Given the description of an element on the screen output the (x, y) to click on. 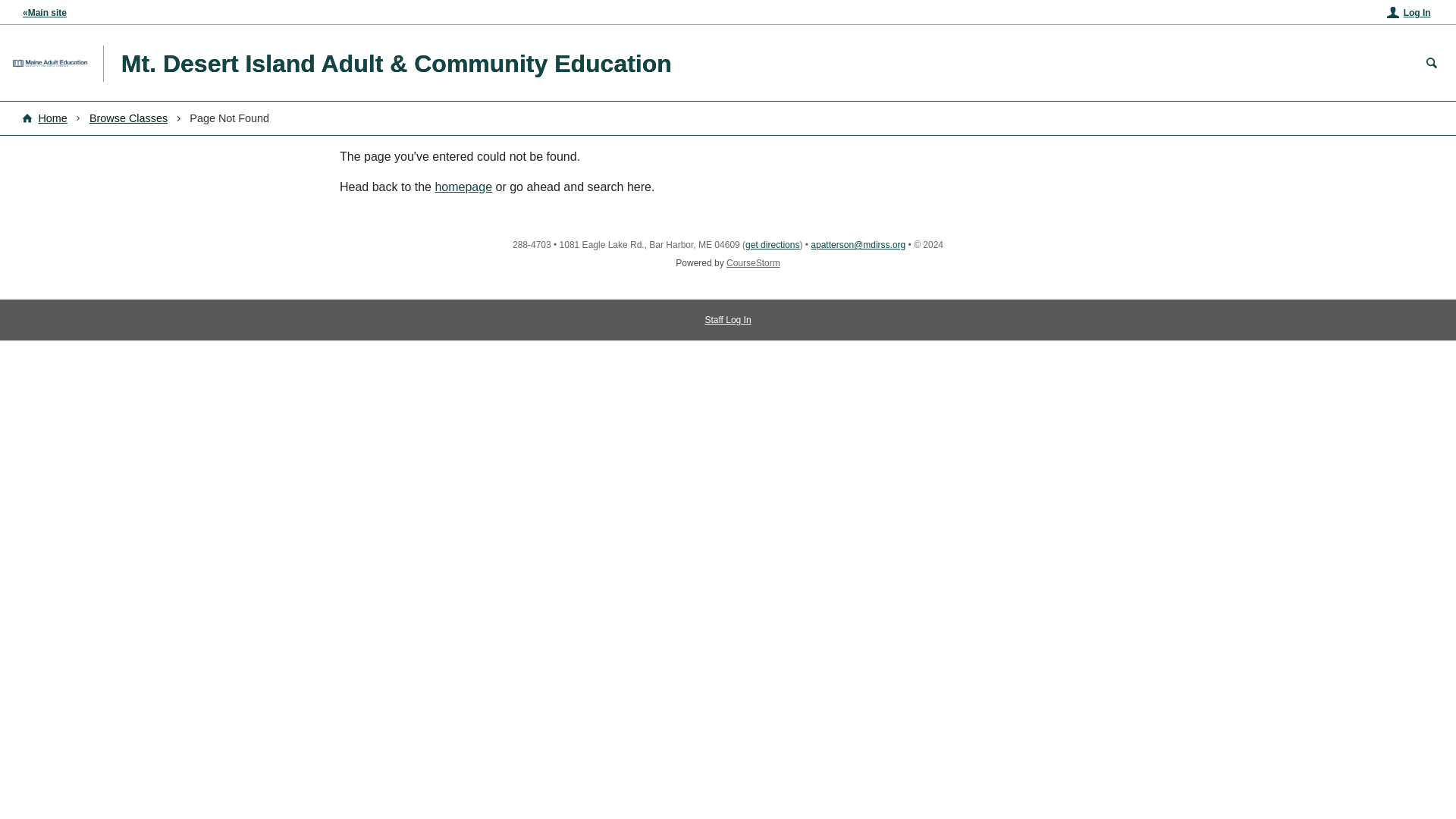
Staff Log In (727, 319)
Main site (44, 12)
homepage (462, 186)
Log In (1409, 12)
CourseStorm (753, 262)
get directions (772, 244)
Browse Classes (127, 118)
Home (43, 118)
Get directions (772, 244)
